Given the description of an element on the screen output the (x, y) to click on. 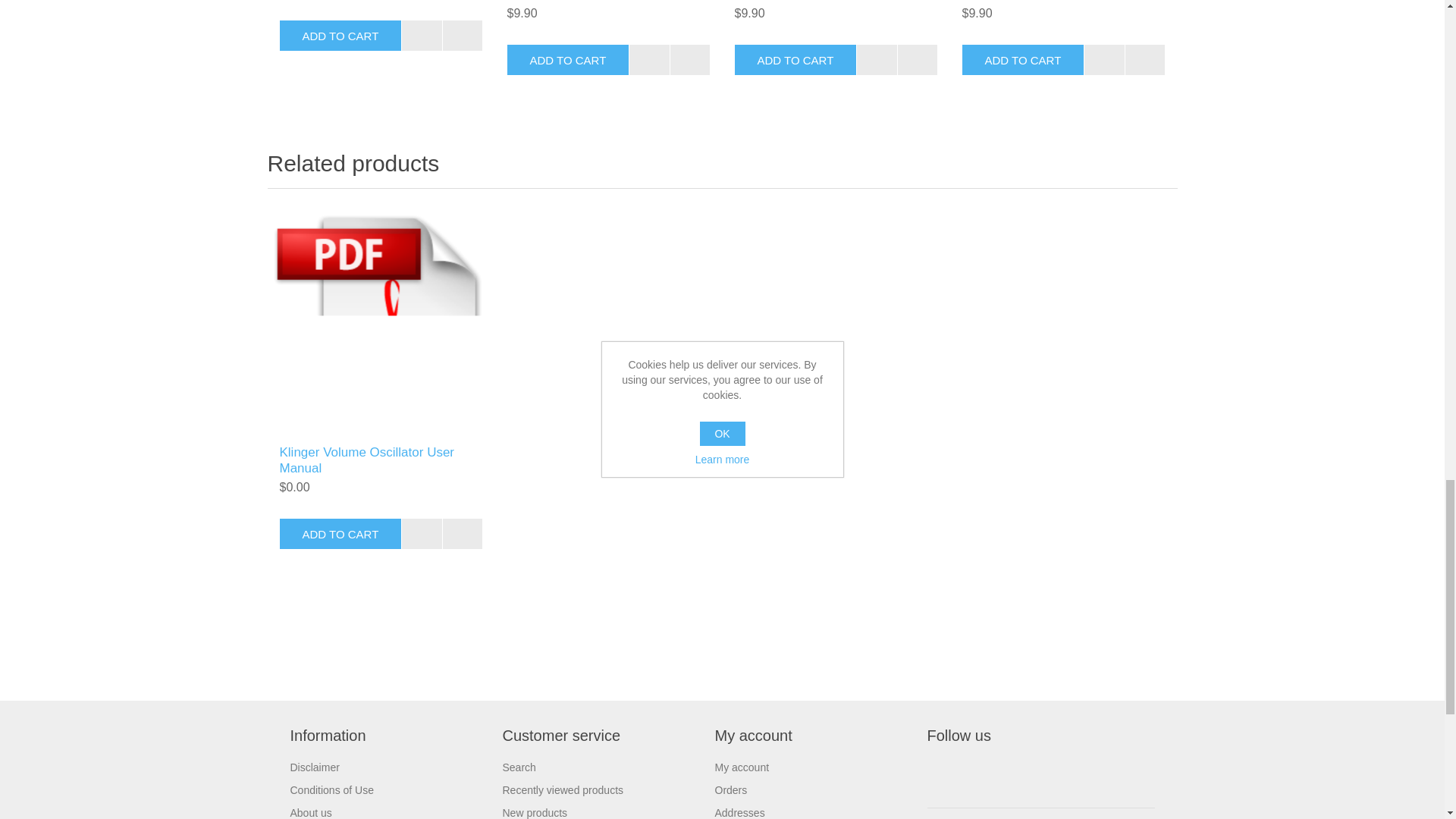
Add to compare list (421, 35)
Add to compare list (876, 60)
Add to compare list (648, 60)
Add to wishlist (689, 60)
Add to wishlist (462, 35)
